Given the description of an element on the screen output the (x, y) to click on. 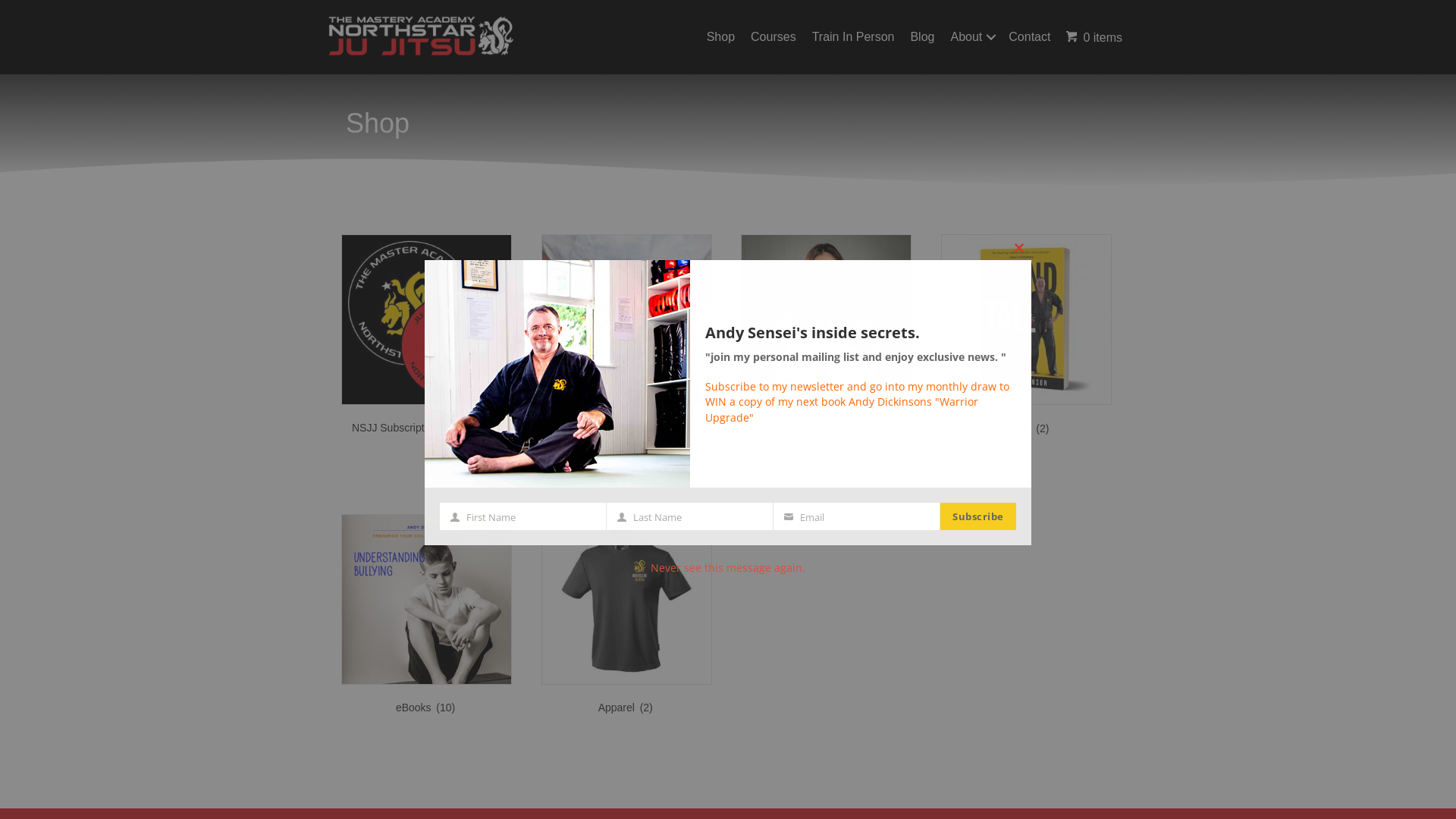
Never see this message again. Element type: text (727, 567)
Blog Element type: text (921, 36)
Apparel (2) Element type: text (626, 617)
Shop Element type: text (720, 36)
Close this module Element type: text (1019, 247)
Contact Element type: text (1029, 36)
Train In Person Element type: text (853, 36)
Shop Element type: text (377, 122)
Belt Online Courses (1) Element type: text (626, 337)
About Element type: text (971, 36)
Subscribe Element type: text (978, 516)
Books (2) Element type: text (1026, 337)
NSJJ Subscription Courses (2) Element type: text (426, 337)
Nnorthstar Ju jitsu Academy Element type: hover (420, 37)
Other Courses (13) Element type: text (825, 337)
Courses Element type: text (773, 36)
0 items Element type: text (1093, 36)
eBooks (10) Element type: text (426, 617)
